Given the description of an element on the screen output the (x, y) to click on. 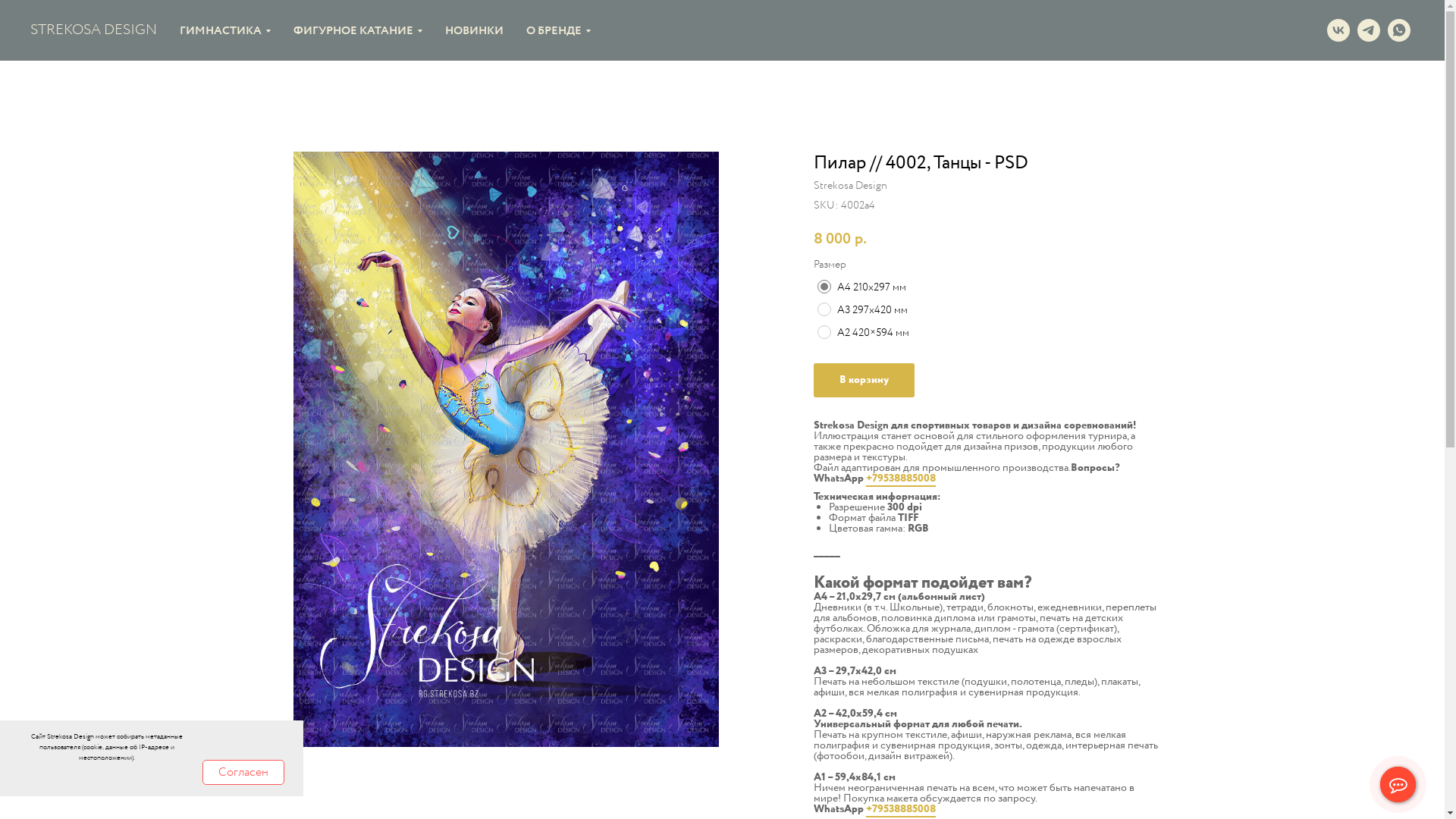
+79538885008 Element type: text (900, 809)
STREKOSA DESIGN Element type: text (104, 29)
+79538885008 Element type: text (900, 478)
